Given the description of an element on the screen output the (x, y) to click on. 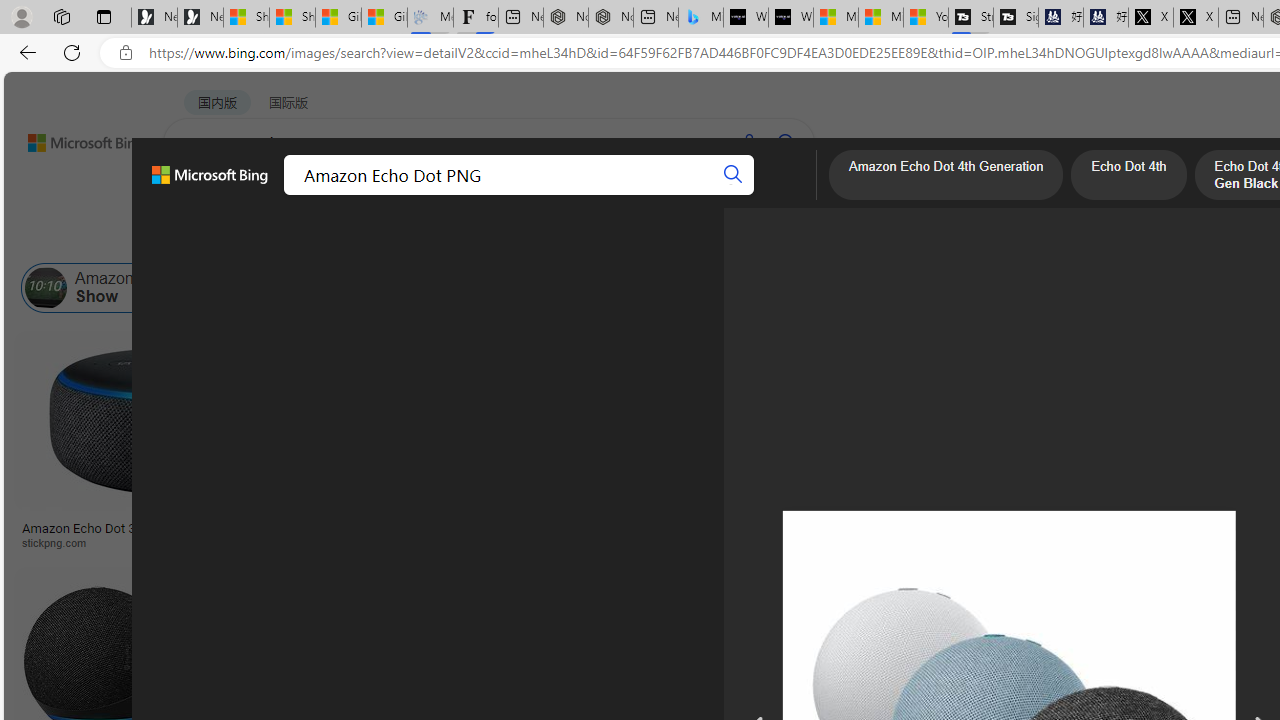
Search using voice (748, 142)
Image result for Amazon Echo Dot PNG (1191, 421)
MAPS (698, 195)
Echo Dot Accessories (397, 287)
DICT (630, 195)
Color (305, 237)
Amazon Echo Show (45, 287)
Type (373, 237)
